Given the description of an element on the screen output the (x, y) to click on. 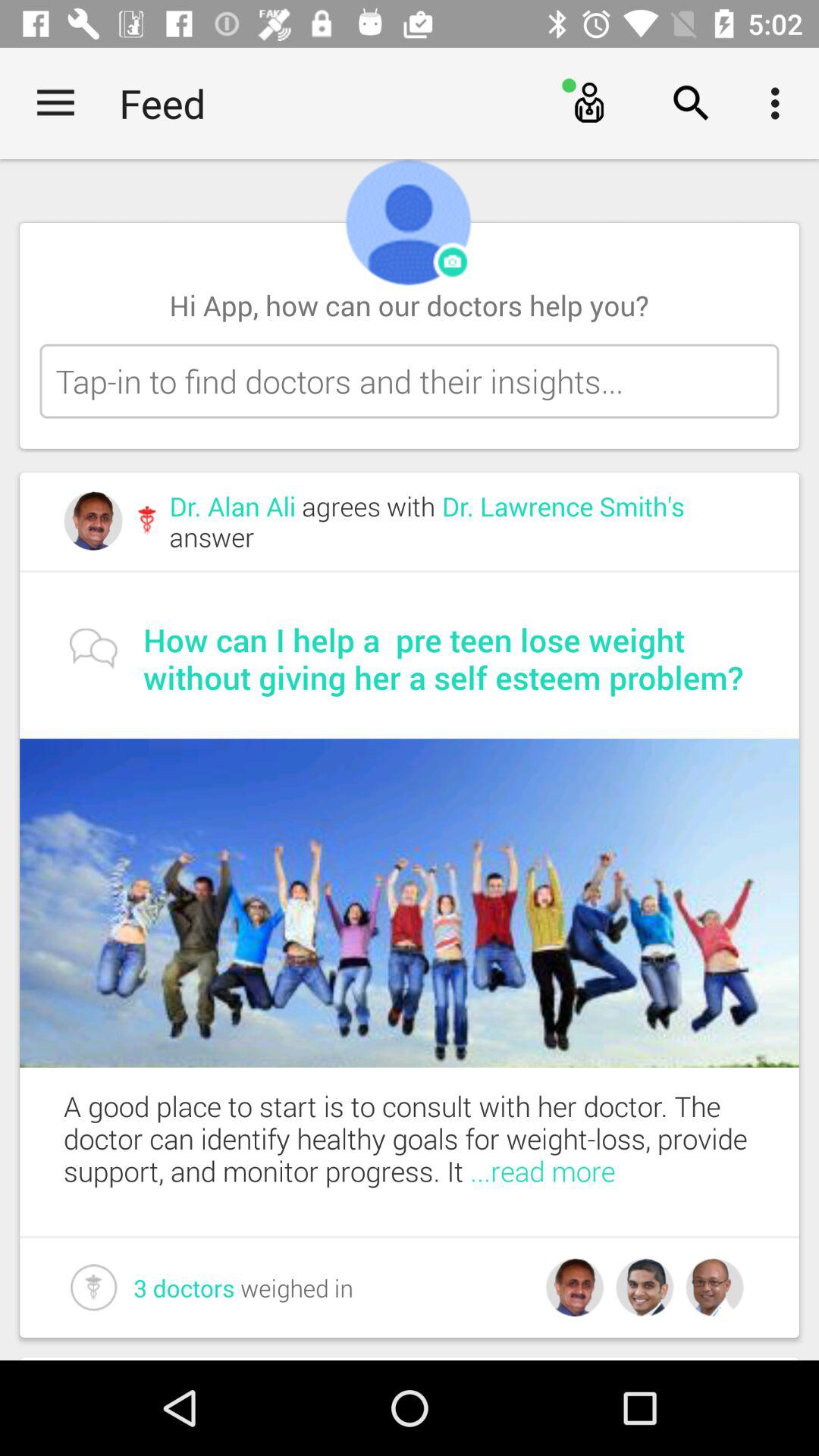
click app to the left of the feed app (55, 103)
